Given the description of an element on the screen output the (x, y) to click on. 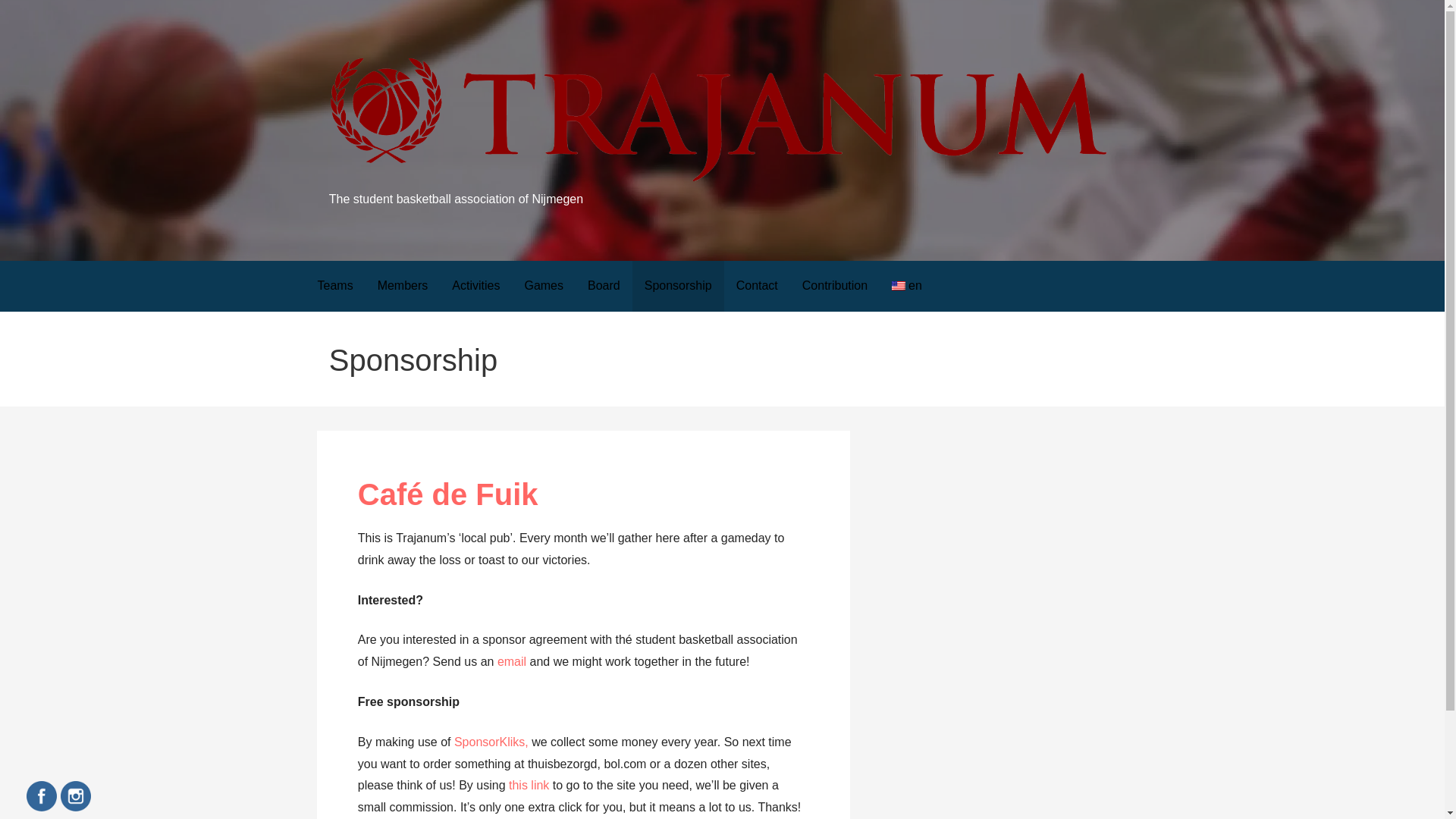
Board (603, 286)
this link (528, 784)
Contribution (834, 286)
Sponsorship (677, 286)
Games (543, 286)
Activities (475, 286)
Facebook (41, 796)
en (906, 286)
SponsorKliks, (492, 741)
Members (403, 286)
Teams (334, 286)
Instagram (75, 796)
Contact (756, 286)
email (511, 661)
